Given the description of an element on the screen output the (x, y) to click on. 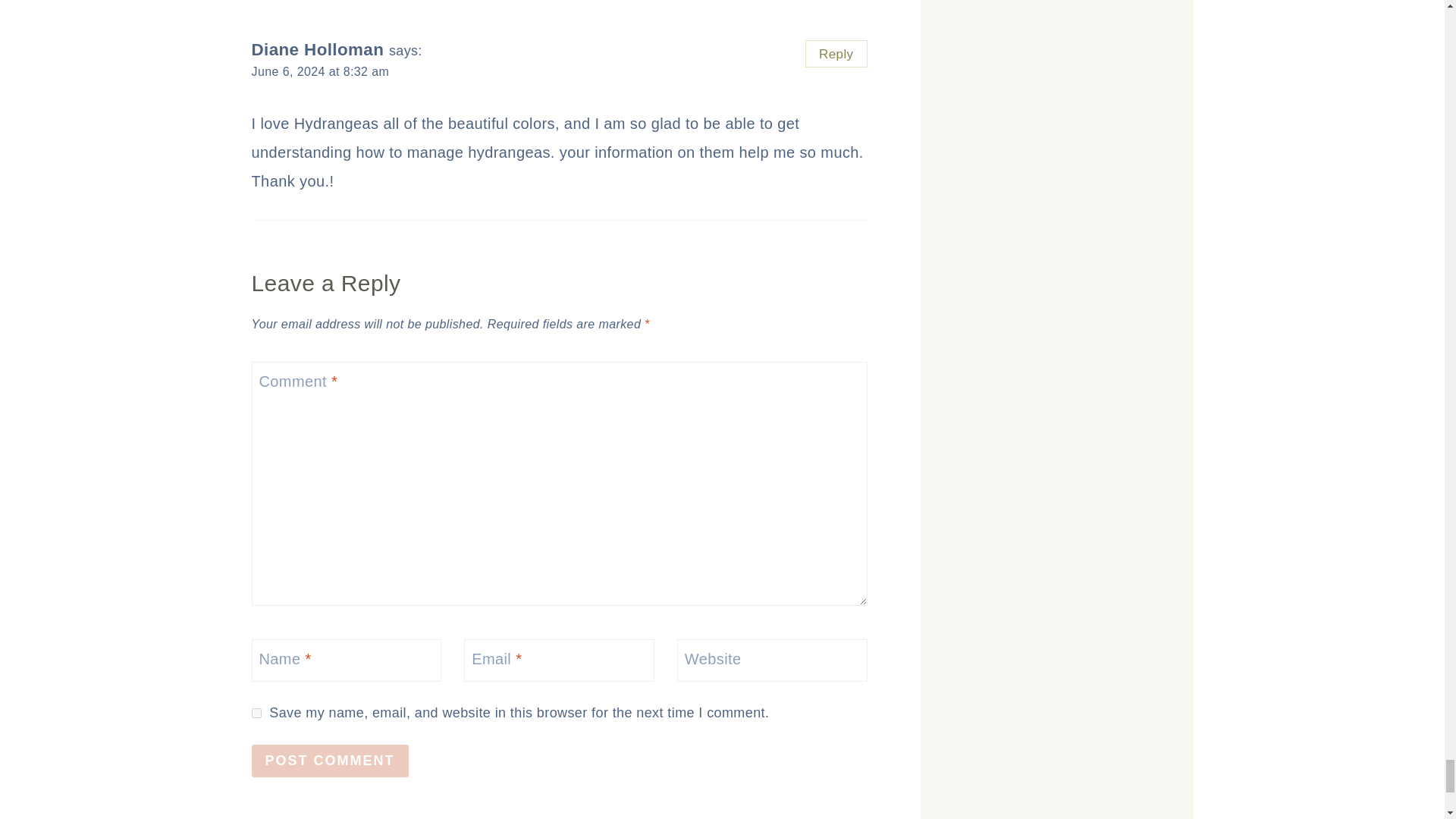
yes (256, 713)
Post Comment (330, 760)
